Given the description of an element on the screen output the (x, y) to click on. 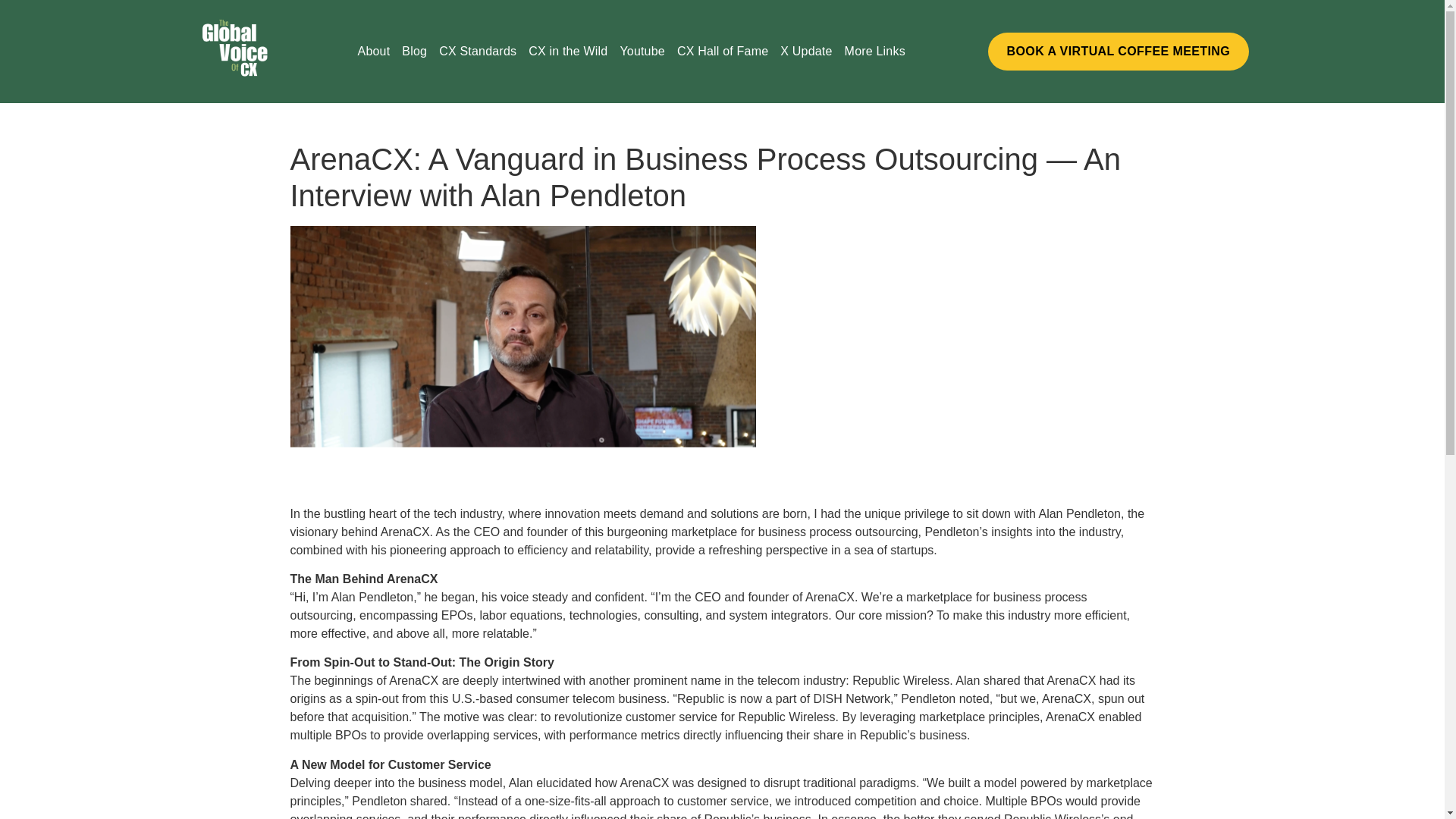
CX in the Wild (567, 51)
More Links (874, 51)
X Update (806, 51)
Youtube (641, 51)
About (374, 51)
CX Hall of Fame (722, 51)
Blog (414, 51)
CX Standards (477, 51)
